Given the description of an element on the screen output the (x, y) to click on. 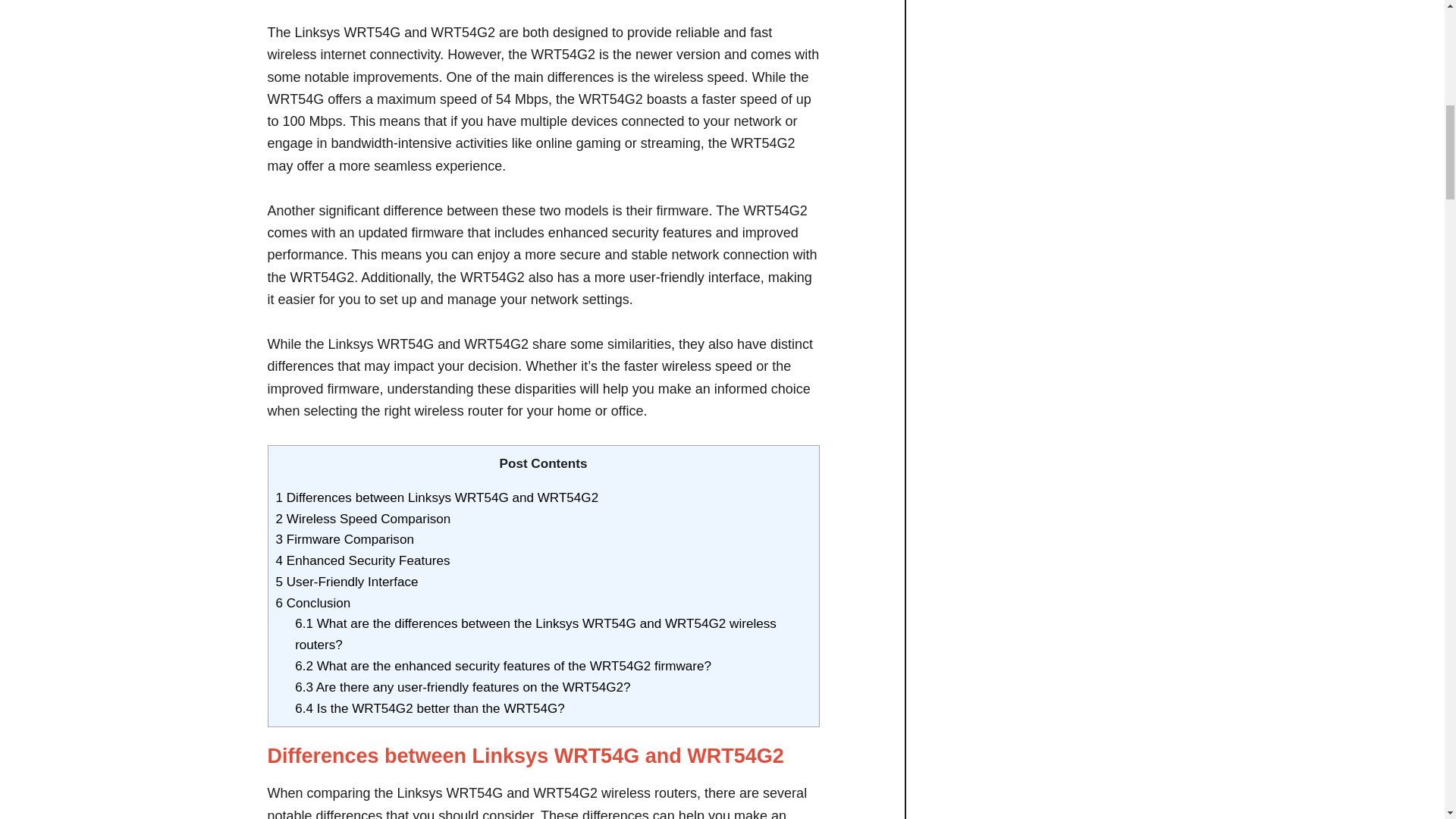
4 Enhanced Security Features (362, 560)
1 Differences between Linksys WRT54G and WRT54G2 (437, 497)
6.4 Is the WRT54G2 better than the WRT54G? (429, 708)
2 Wireless Speed Comparison (363, 518)
5 User-Friendly Interface (347, 581)
6 Conclusion (313, 603)
3 Firmware Comparison (344, 539)
6.3 Are there any user-friendly features on the WRT54G2? (462, 687)
